Given the description of an element on the screen output the (x, y) to click on. 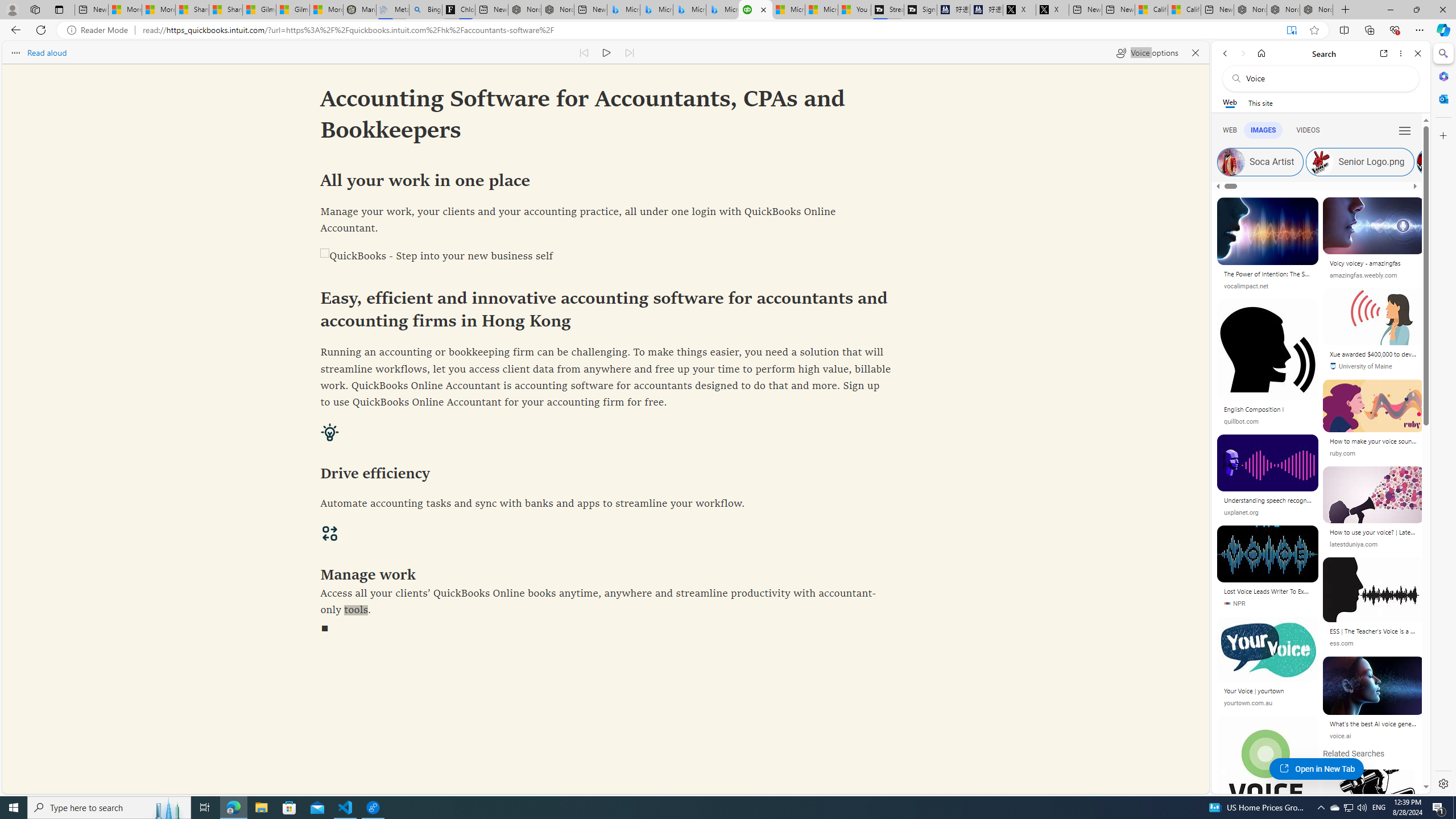
NPR (1267, 603)
Your Voice | yourtown (1267, 692)
Outlook (1442, 98)
Reader Mode (100, 29)
How to make your voice sound better | Ruby Blog (1372, 442)
Read next paragraph (628, 52)
Soca Artist (1260, 162)
English Composition I (1267, 410)
Voicy voicey - amazingfas (1372, 262)
What's the best AI voice generator? - voice.ai (1372, 725)
This site scope (1259, 102)
English Composition Iquillbot.com (1267, 366)
